Given the description of an element on the screen output the (x, y) to click on. 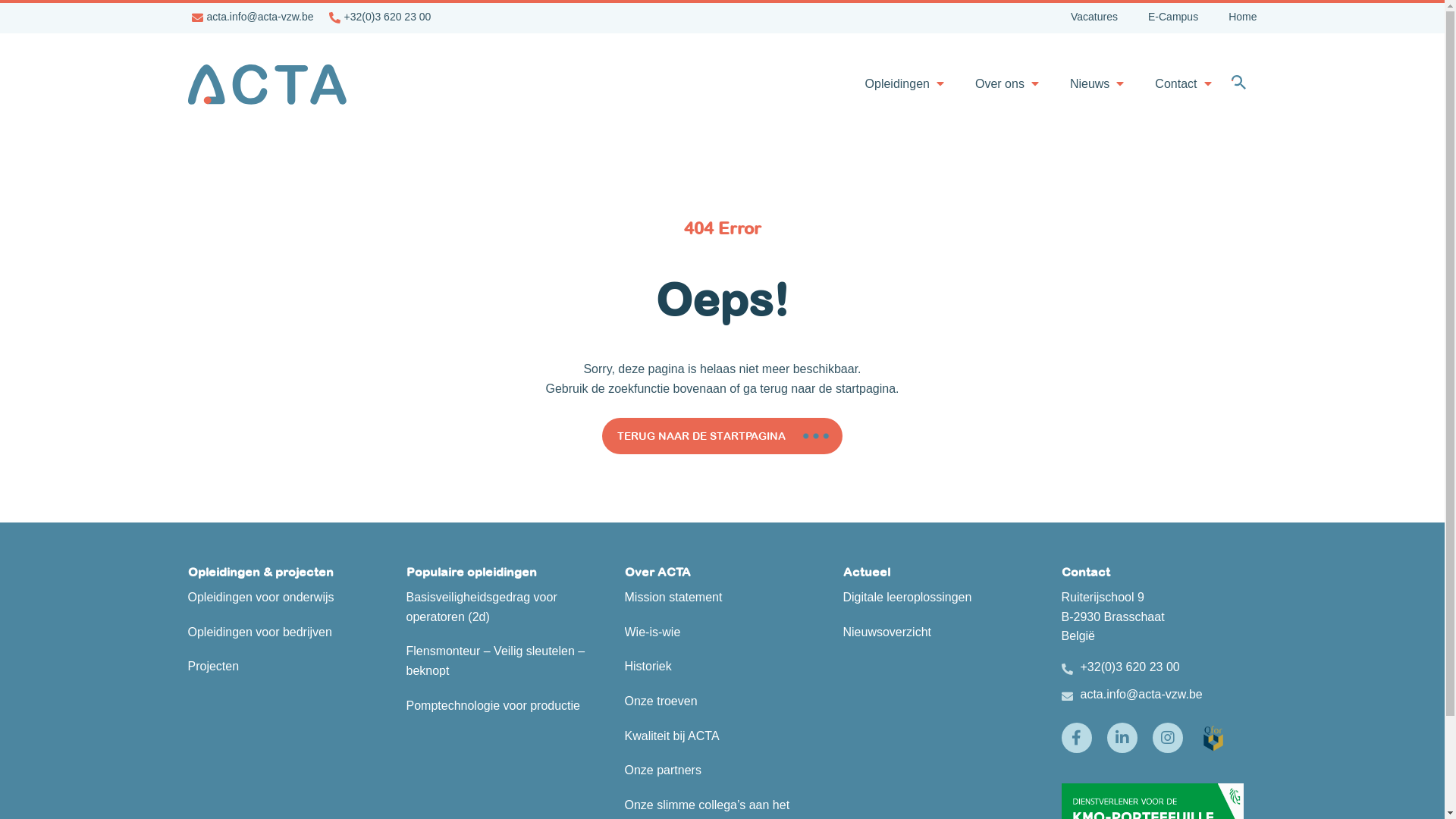
Contact Element type: text (1175, 84)
Opleidingen voor bedrijven Element type: text (260, 631)
Historiek Element type: text (647, 665)
Onze partners Element type: text (662, 769)
Over ons Element type: text (999, 84)
acta.info@acta-vzw.be Element type: text (259, 14)
+32(0)3 620 23 00 Element type: text (387, 14)
Wie-is-wie Element type: text (652, 631)
Opleidingen voor onderwijs Element type: text (261, 596)
Digitale leeroplossingen Element type: text (907, 596)
Home Element type: text (1242, 14)
Nieuws Element type: text (1089, 84)
Basisveiligheidsgedrag voor operatoren (2d) Element type: text (481, 606)
Mission statement Element type: text (673, 596)
Kwaliteit bij ACTA Element type: text (671, 735)
Nieuwsoverzicht Element type: text (887, 631)
+32(0)3 620 23 00 Element type: text (1129, 666)
TERUG NAAR DE STARTPAGINA Element type: text (722, 435)
Opleidingen Element type: text (897, 84)
Pomptechnologie voor productie Element type: text (493, 705)
E-Campus Element type: text (1173, 14)
Vacatures Element type: text (1093, 14)
acta.info@acta-vzw.be Element type: text (1140, 693)
Projecten Element type: text (213, 665)
Onze troeven Element type: text (660, 700)
